Given the description of an element on the screen output the (x, y) to click on. 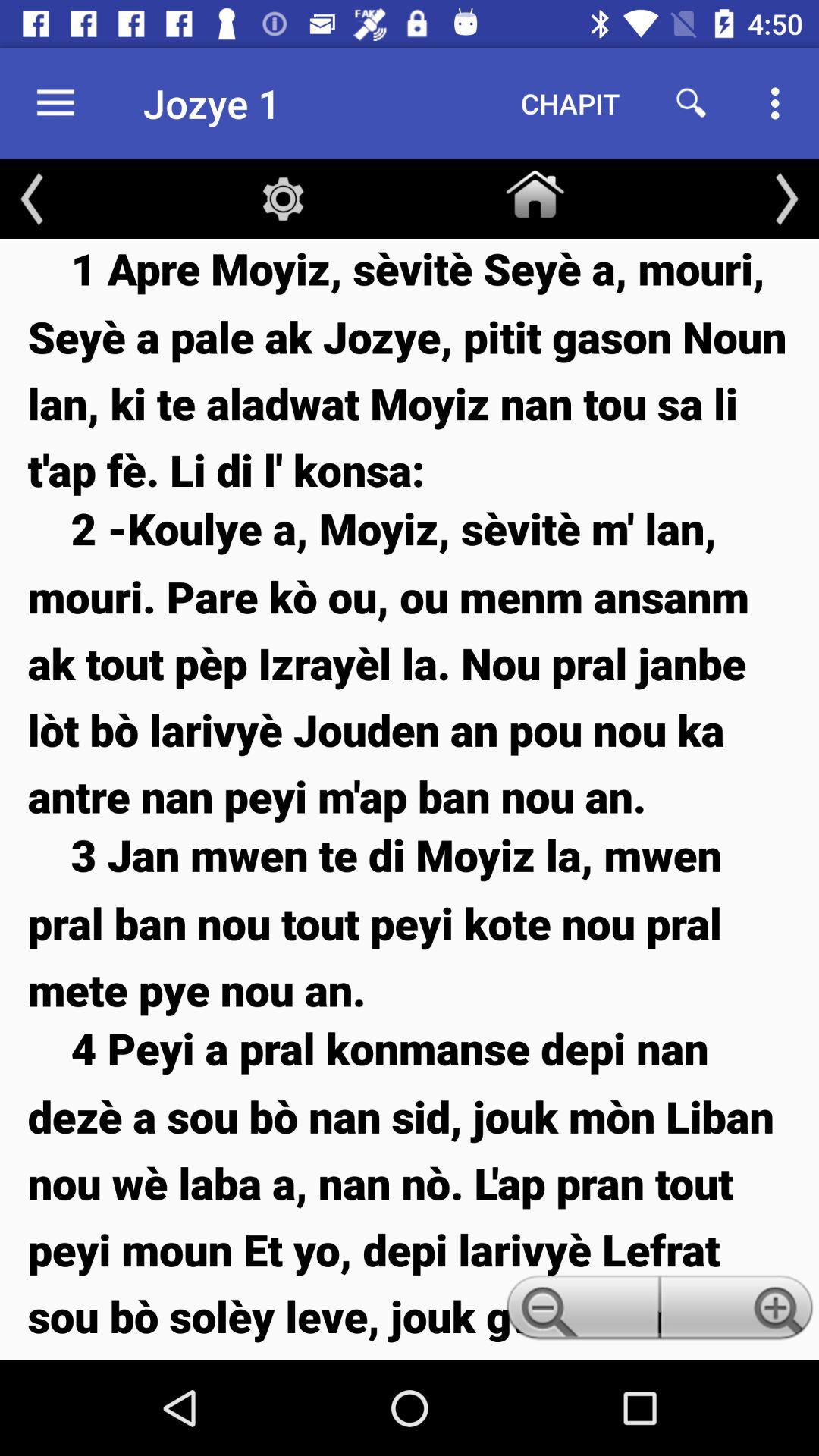
turn off the item next to chapit (691, 103)
